Given the description of an element on the screen output the (x, y) to click on. 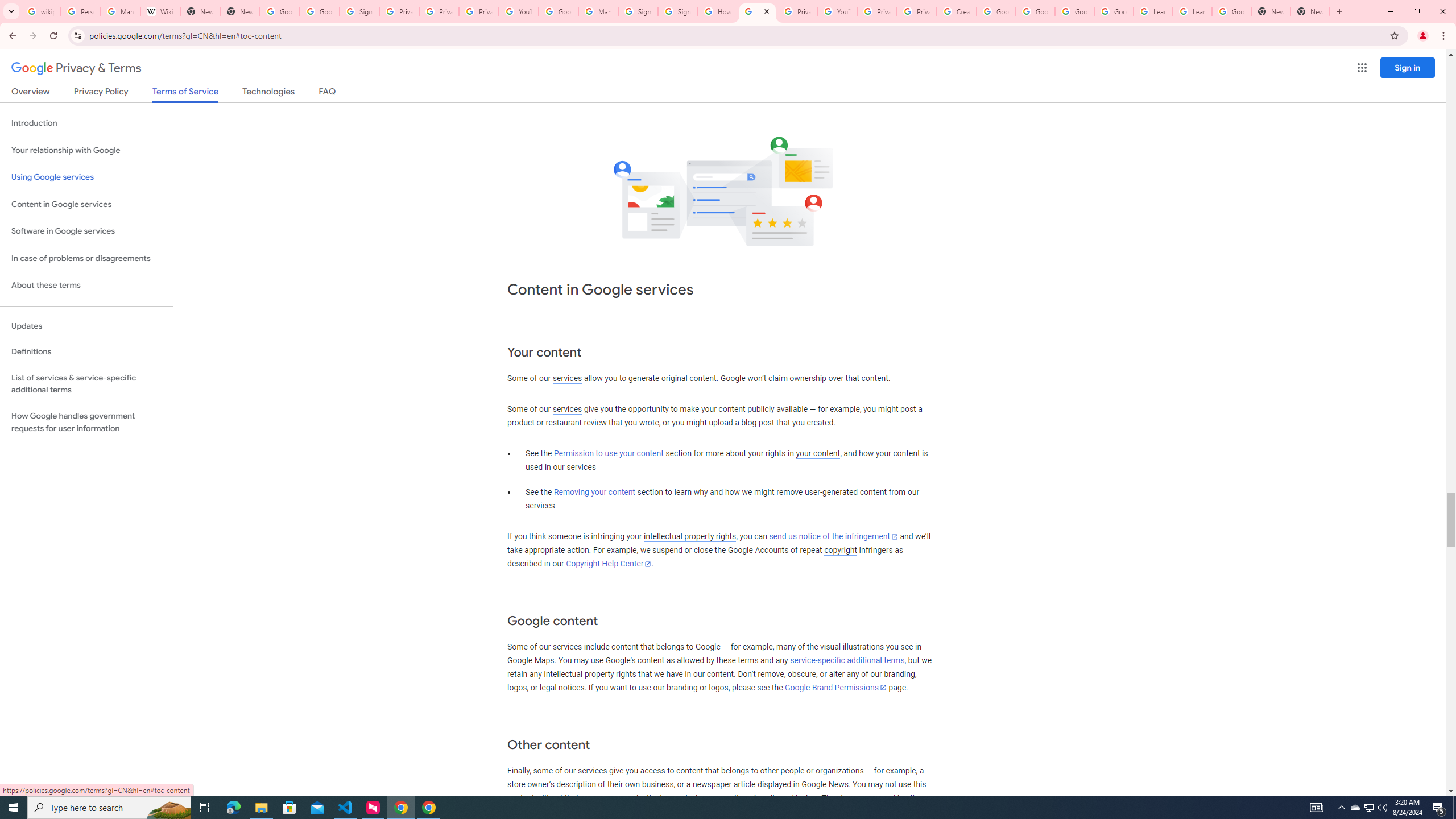
Software in Google services (86, 230)
New Tab (1270, 11)
Sign in - Google Accounts (637, 11)
copyright (840, 550)
service-specific additional terms (847, 660)
your content (817, 453)
Using Google services (86, 176)
Google Account (1231, 11)
Personalization & Google Search results - Google Search Help (80, 11)
